Given the description of an element on the screen output the (x, y) to click on. 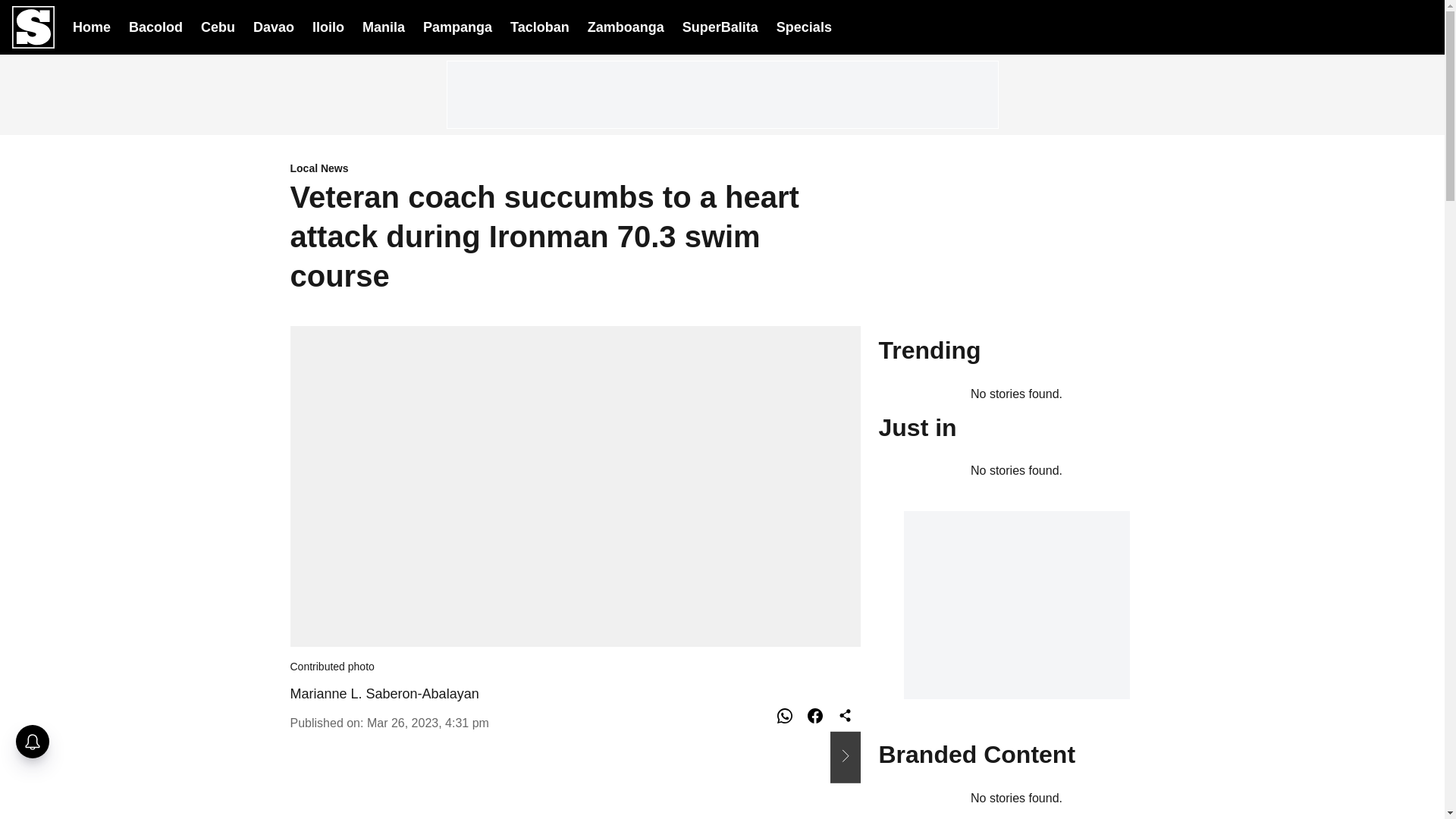
Tacloban (540, 26)
Pampanga (457, 26)
Manila (383, 26)
Marianne L. Saberon-Abalayan (384, 693)
Davao (273, 26)
Local News (574, 169)
Bacolod (156, 26)
Zamboanga (625, 26)
SuperBalita (720, 27)
